Given the description of an element on the screen output the (x, y) to click on. 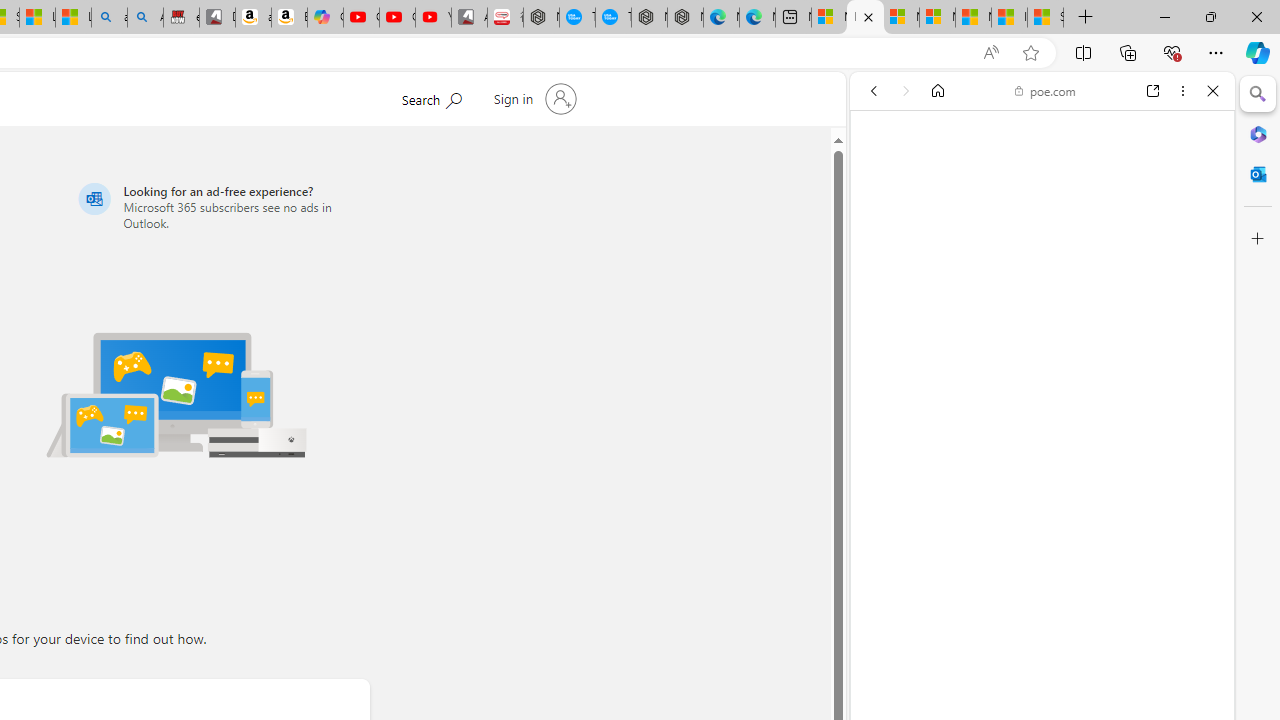
amazon.in/dp/B0CX59H5W7/?tag=gsmcom05-21 (253, 17)
SERP,5400 (1034, 608)
Sign in to your account (532, 98)
Fast AI Chat (1042, 496)
VIDEOS (1006, 228)
Customize (1258, 239)
https://b2b.baidu.com (965, 582)
